Given the description of an element on the screen output the (x, y) to click on. 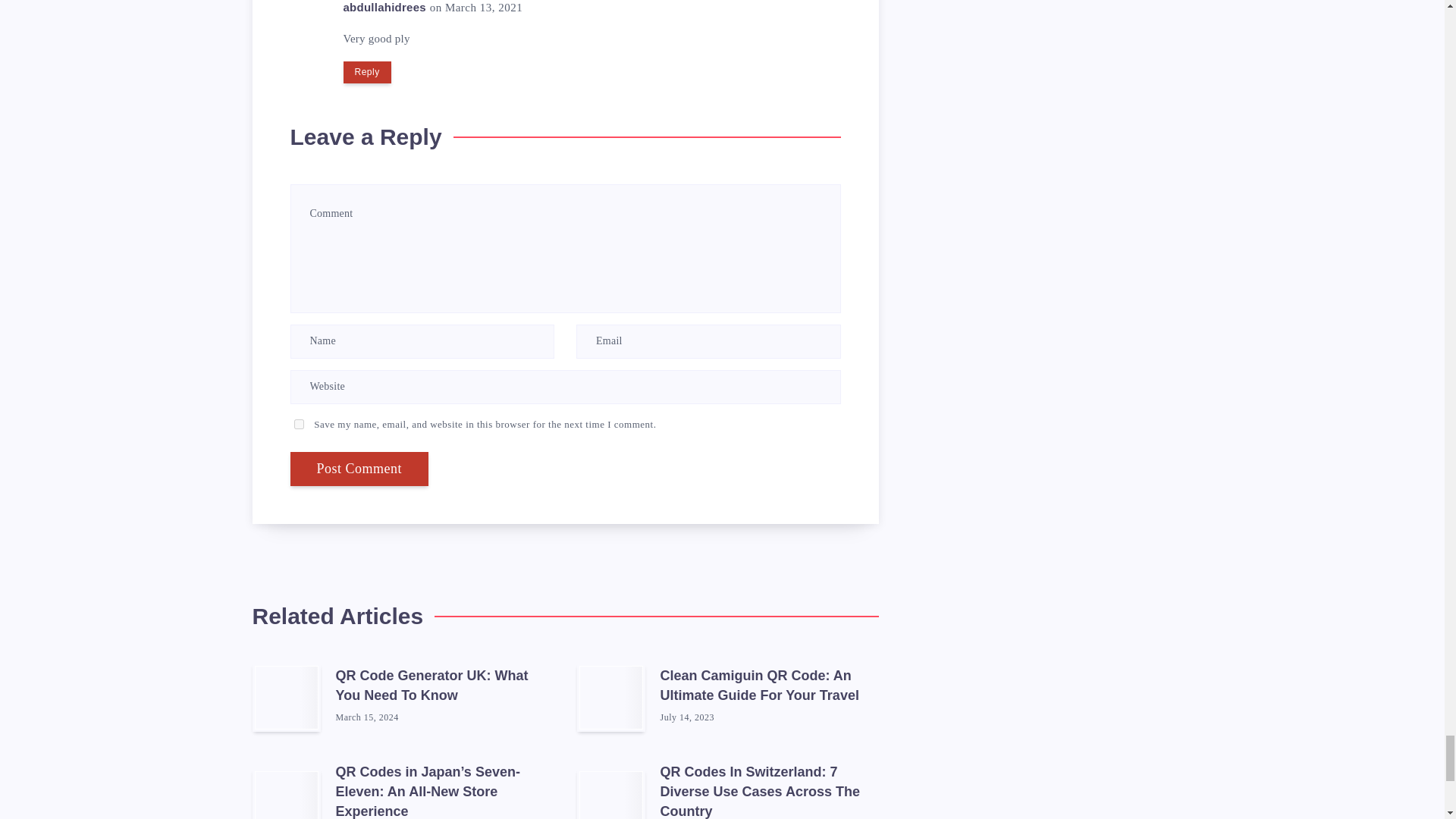
Post Comment (358, 469)
yes (299, 424)
